Given the description of an element on the screen output the (x, y) to click on. 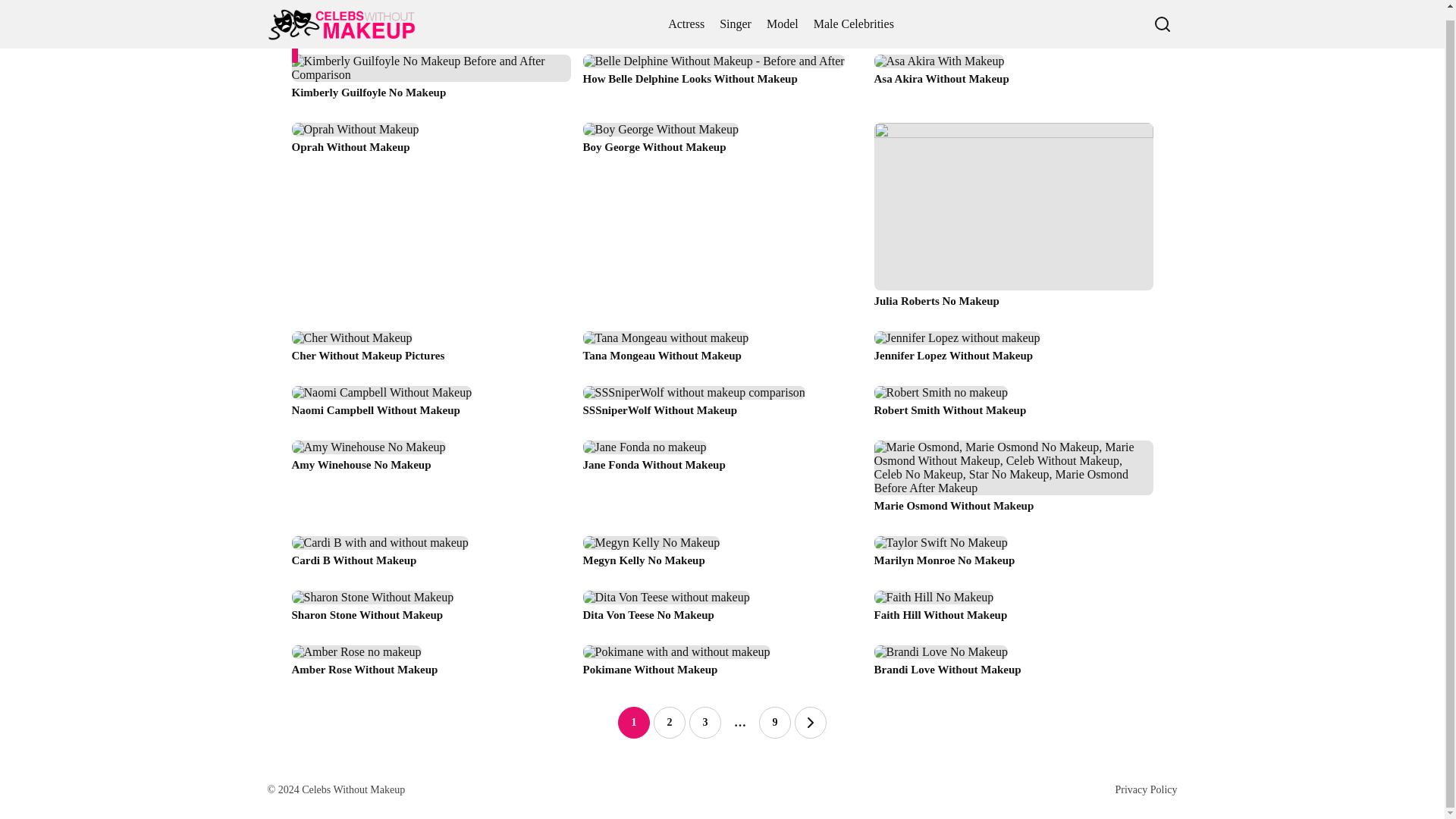
SSSniperWolf Without Makeup (721, 406)
Marilyn Monroe No Makeup (1013, 557)
Kimberly Guilfoyle No Makeup (430, 82)
3 (704, 722)
Cher Without Makeup Pictures (430, 352)
Megyn Kelly No Makeup (721, 557)
Boy George Without Makeup (721, 220)
Male Celebrities (853, 19)
Jennifer Lopez Without Makeup (1013, 352)
Actress (686, 19)
Pokimane Without Makeup (721, 666)
Singer (735, 19)
Brandi Love Without Makeup (1013, 666)
Amber Rose Without Makeup (430, 666)
Robert Smith Without Makeup (1013, 406)
